Given the description of an element on the screen output the (x, y) to click on. 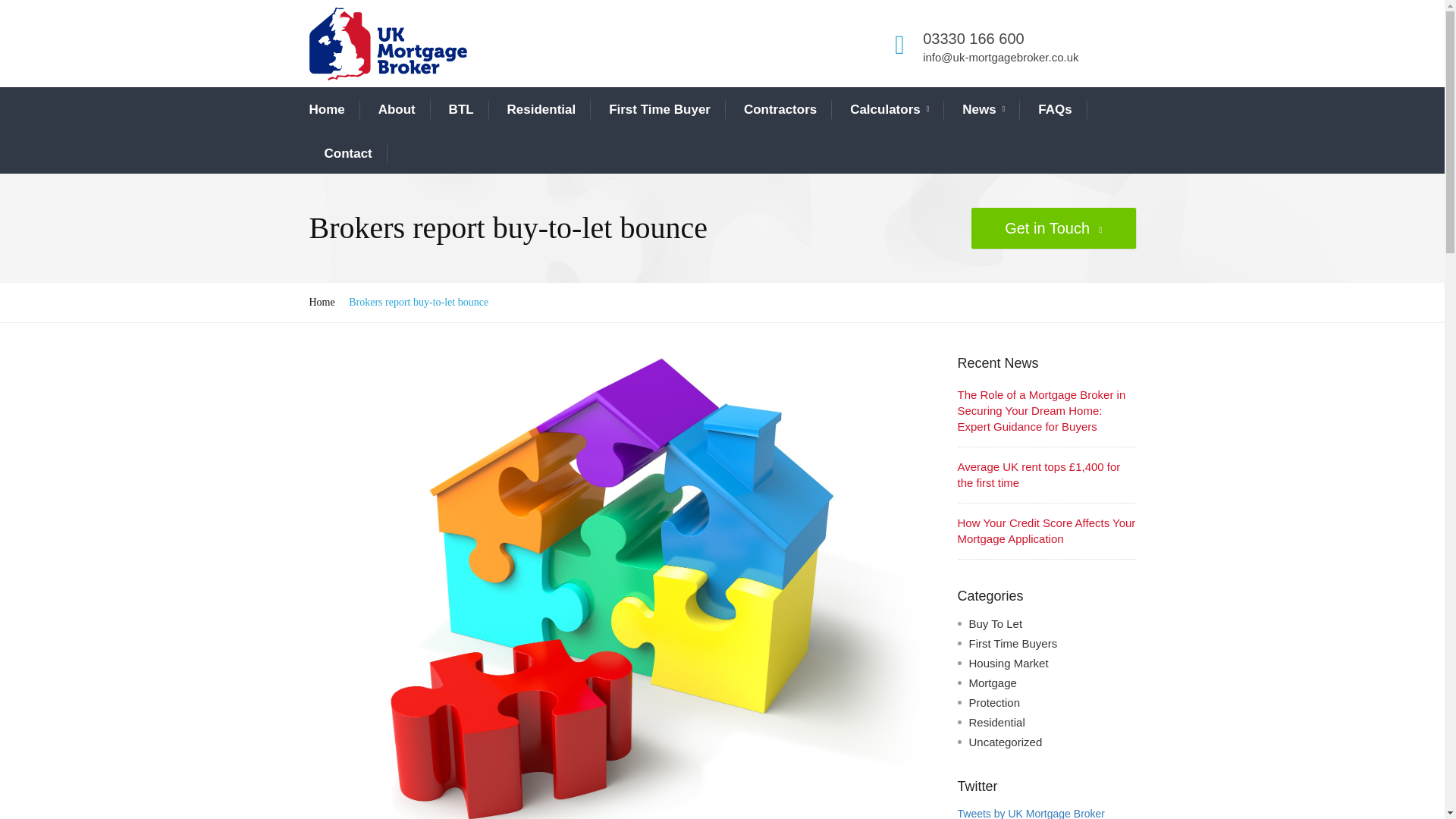
Calculators (889, 109)
BTL (461, 109)
03330 166 600 (973, 38)
FAQs (1054, 109)
About (396, 109)
Residential (541, 109)
Home (326, 109)
Contractors (780, 109)
Contact (348, 153)
News (983, 109)
